Given the description of an element on the screen output the (x, y) to click on. 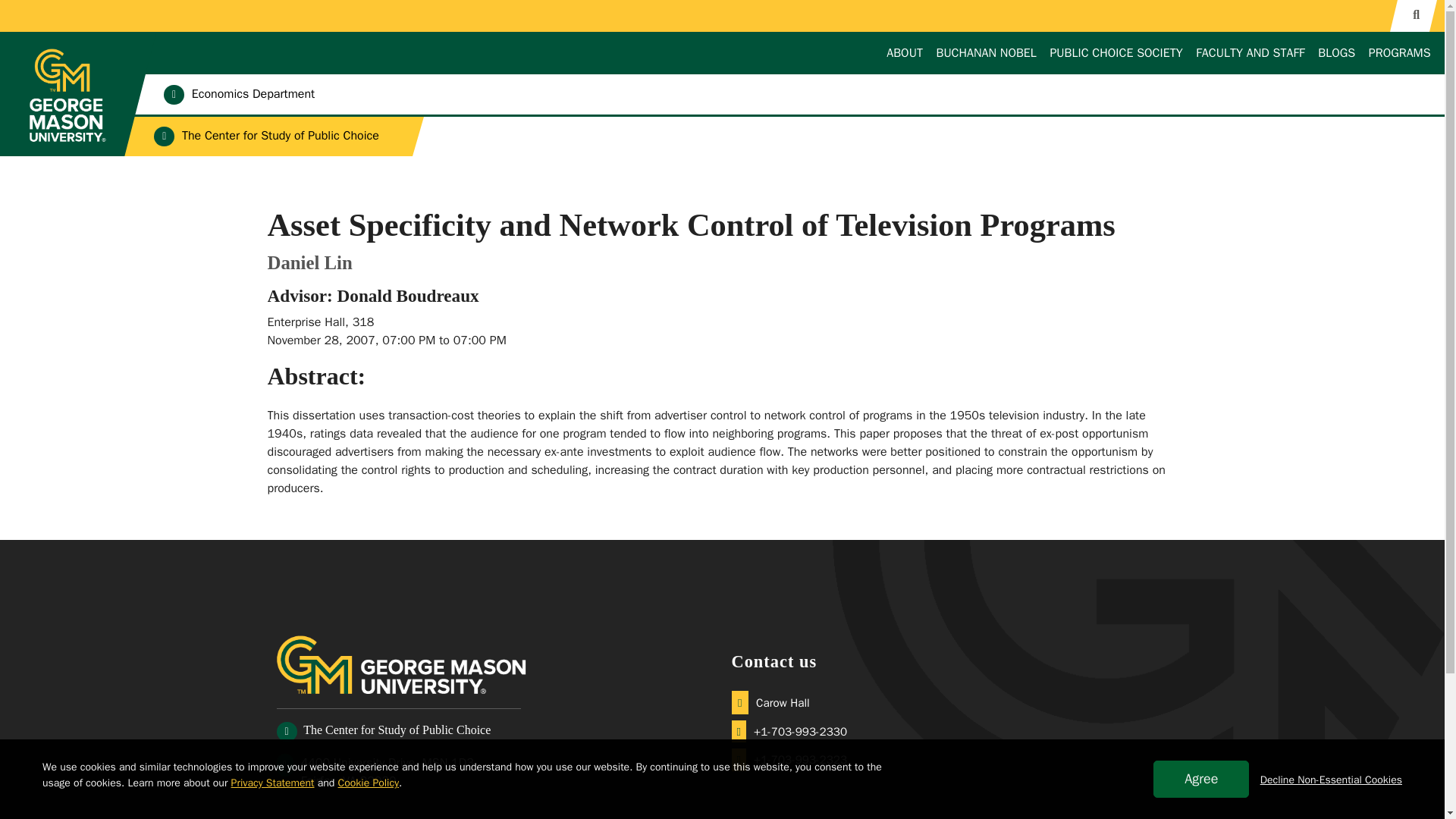
BLOGS (1336, 52)
About (904, 52)
Enter search terms (722, 14)
Faculty and Staff (1249, 52)
George Mason University Cookie Policy (367, 782)
Public Choice Society (1116, 52)
George Mason University Privacy Statement (272, 782)
PUBLIC CHOICE SOCIETY (1116, 52)
Blogs (1336, 52)
Decline Non-Essential Cookies (1331, 779)
Privacy Statement (272, 782)
BUCHANAN NOBEL (986, 52)
Buchanan Nobel (986, 52)
Agree (1201, 778)
FACULTY AND STAFF (1249, 52)
